Given the description of an element on the screen output the (x, y) to click on. 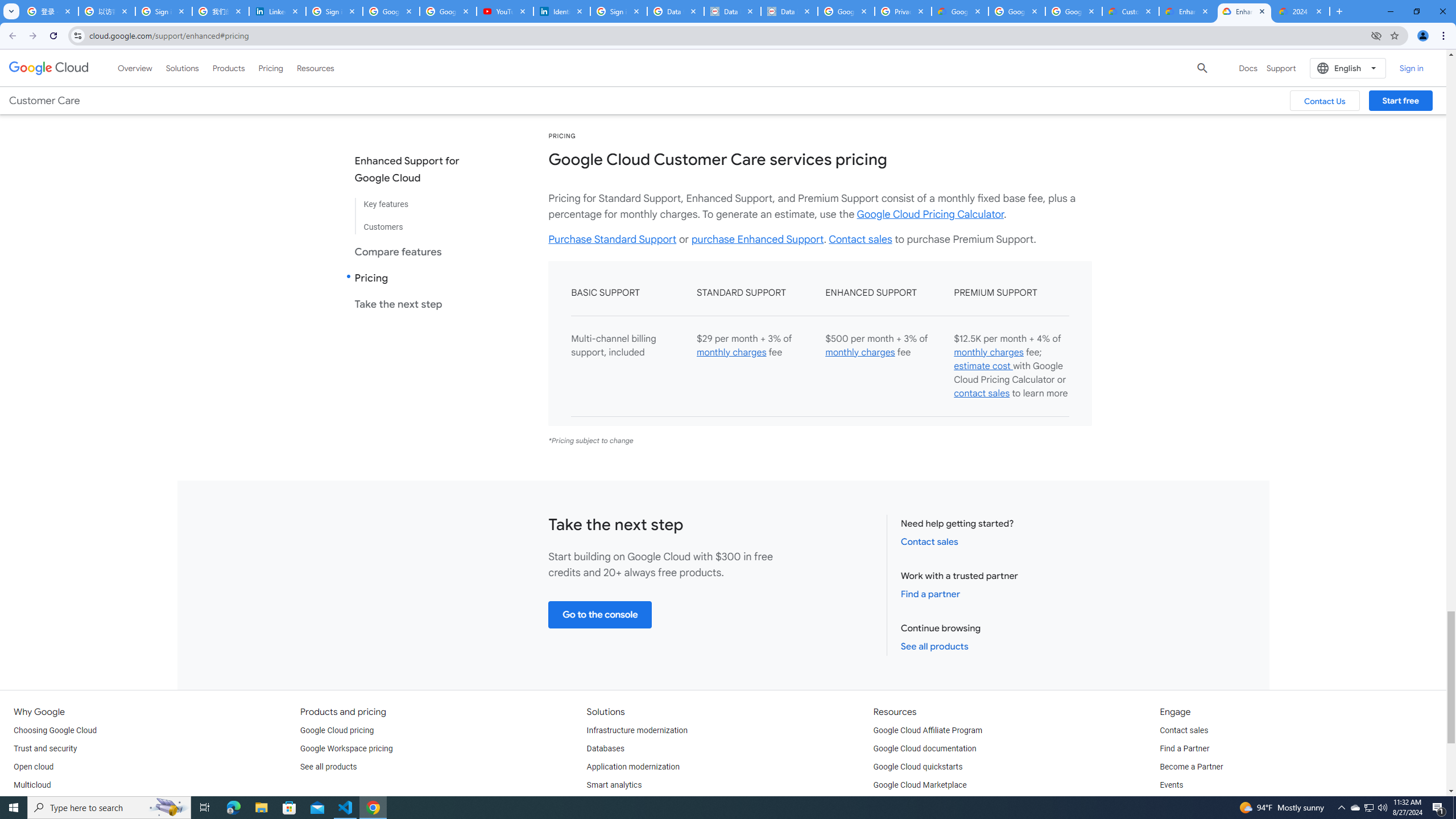
Google Cloud Pricing Calculator (930, 213)
estimate cost  (983, 365)
Support (1280, 67)
Sign in - Google Accounts (163, 11)
Google Cloud quickstarts (917, 766)
Minimize (1390, 11)
Customers (416, 222)
Open cloud (33, 766)
Enhanced Support | Google Cloud (1244, 11)
Multicloud (31, 784)
Key features (416, 204)
contact sales (981, 393)
See all products (327, 766)
